Given the description of an element on the screen output the (x, y) to click on. 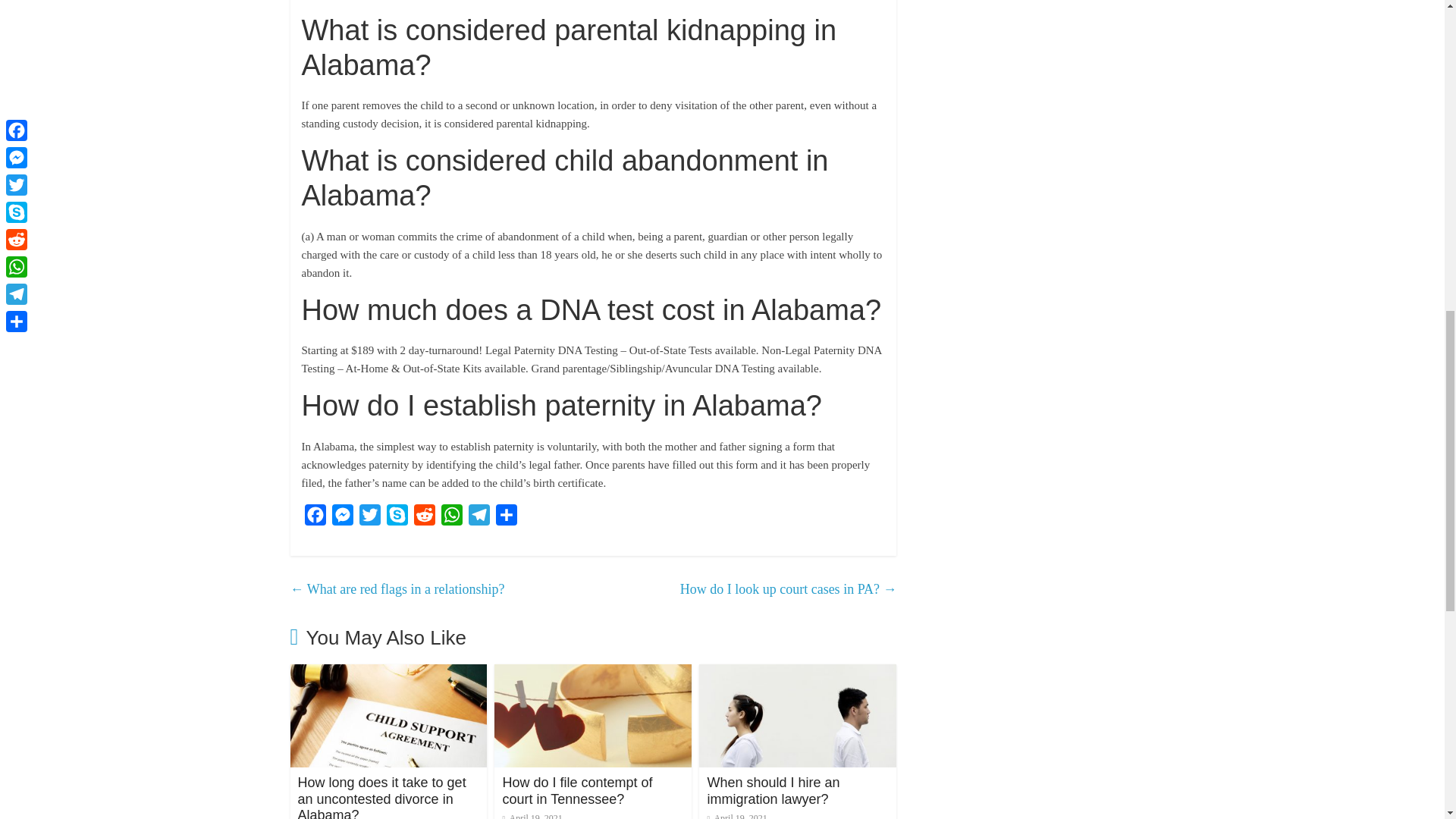
Twitter (370, 518)
Reddit (424, 518)
Facebook (315, 518)
April 19, 2021 (532, 816)
WhatsApp (451, 518)
Reddit (424, 518)
WhatsApp (451, 518)
When should I hire an immigration lawyer? (773, 790)
Twitter (370, 518)
